Given the description of an element on the screen output the (x, y) to click on. 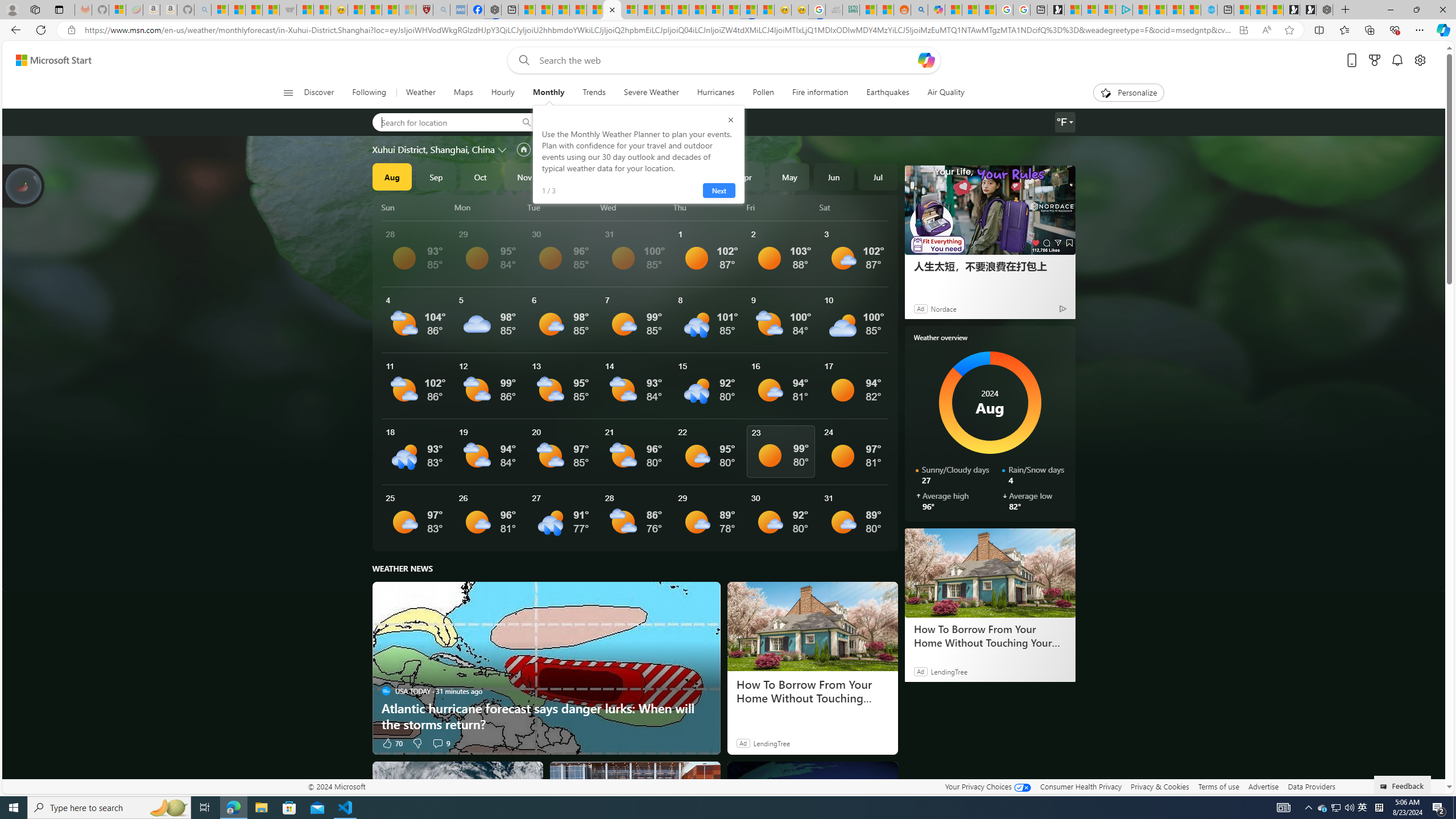
Tue (561, 207)
Aug (391, 176)
DITOGAMES AG Imprint (850, 9)
Open navigation menu (287, 92)
Sep (435, 176)
Join us in planting real trees to help our planet! (23, 184)
Nov (523, 176)
